Given the description of an element on the screen output the (x, y) to click on. 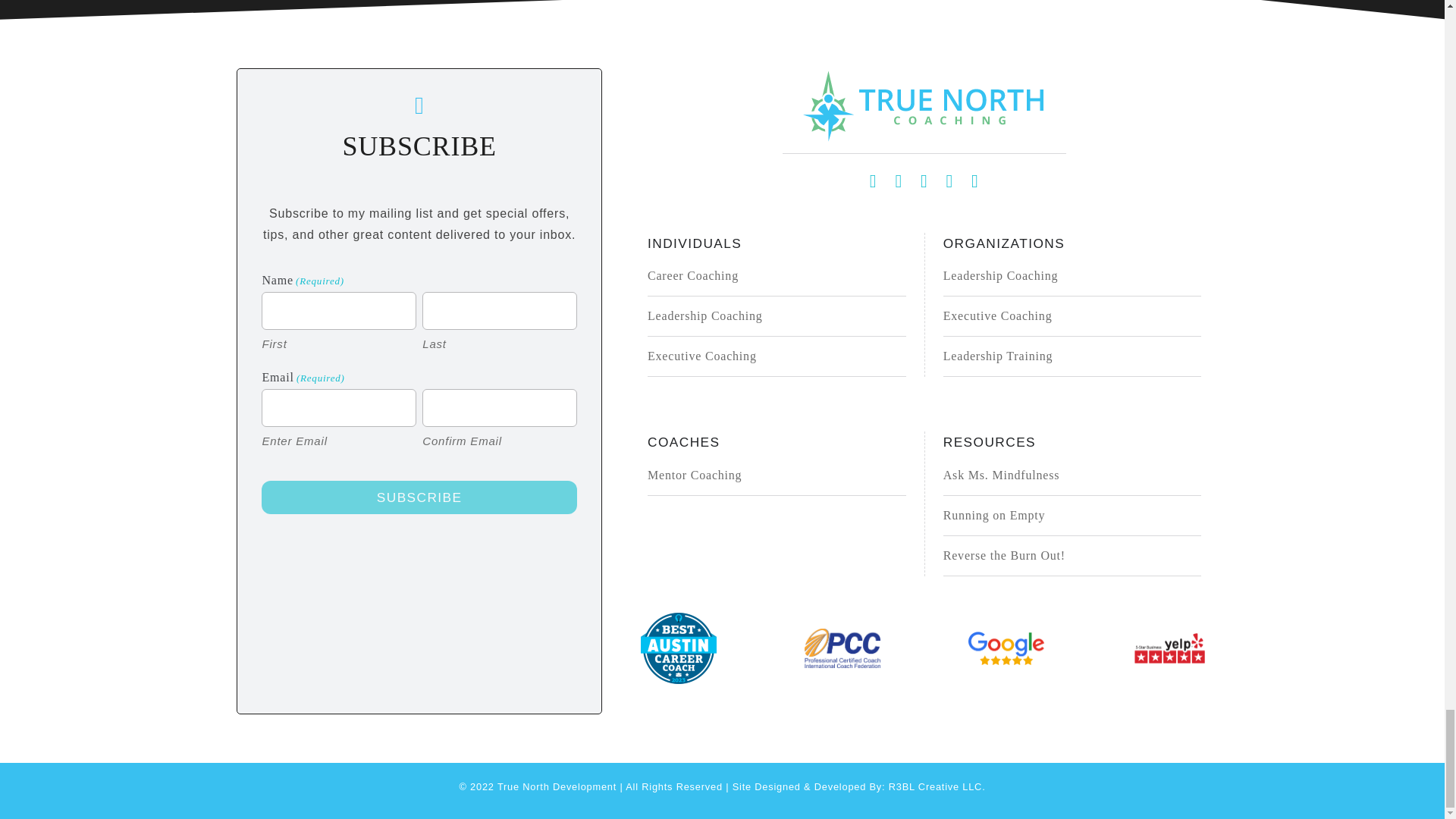
Subscribe (419, 497)
